Given the description of an element on the screen output the (x, y) to click on. 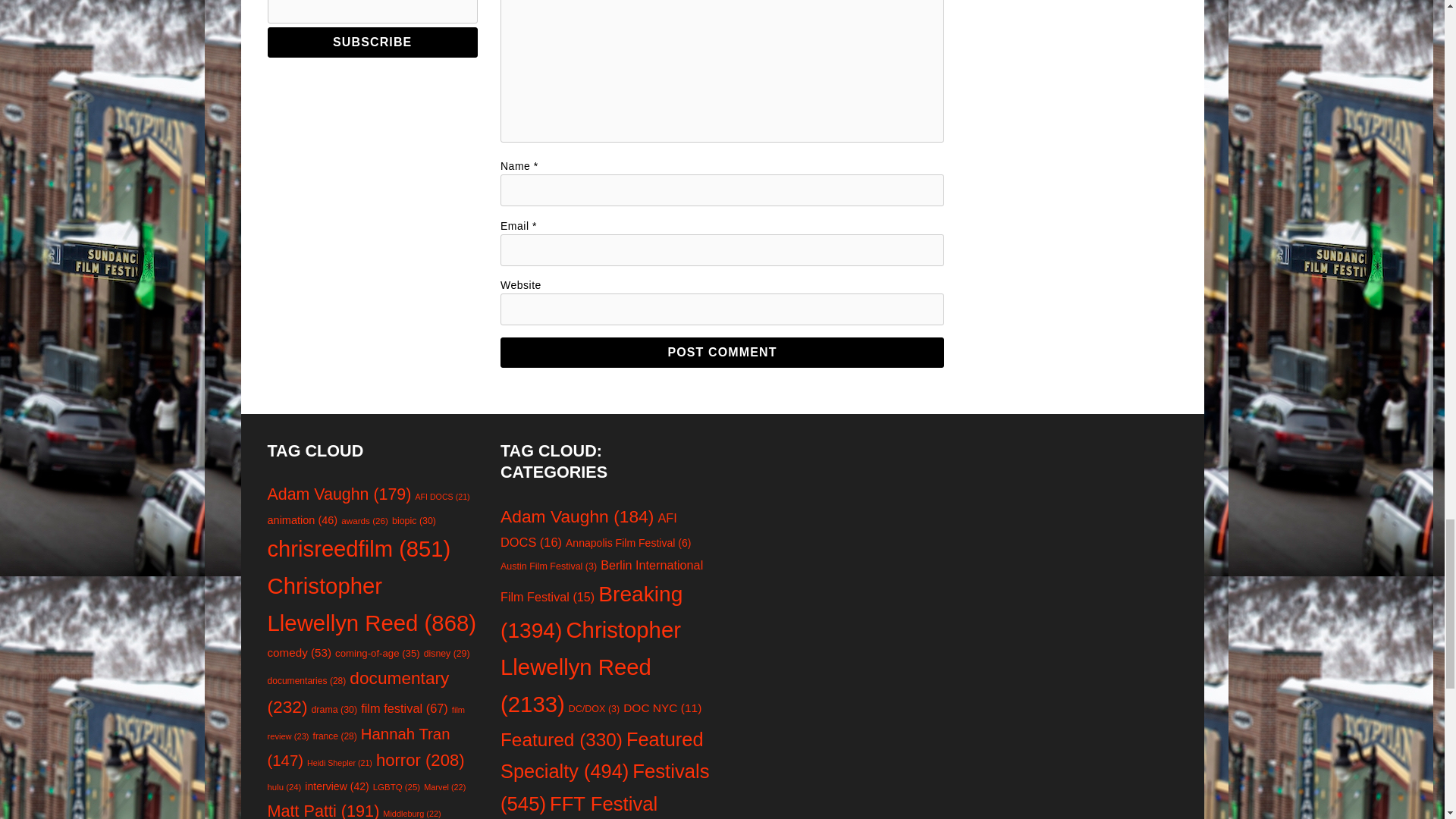
Post Comment (721, 352)
Subscribe (371, 42)
Subscribe (371, 42)
Post Comment (721, 352)
